Given the description of an element on the screen output the (x, y) to click on. 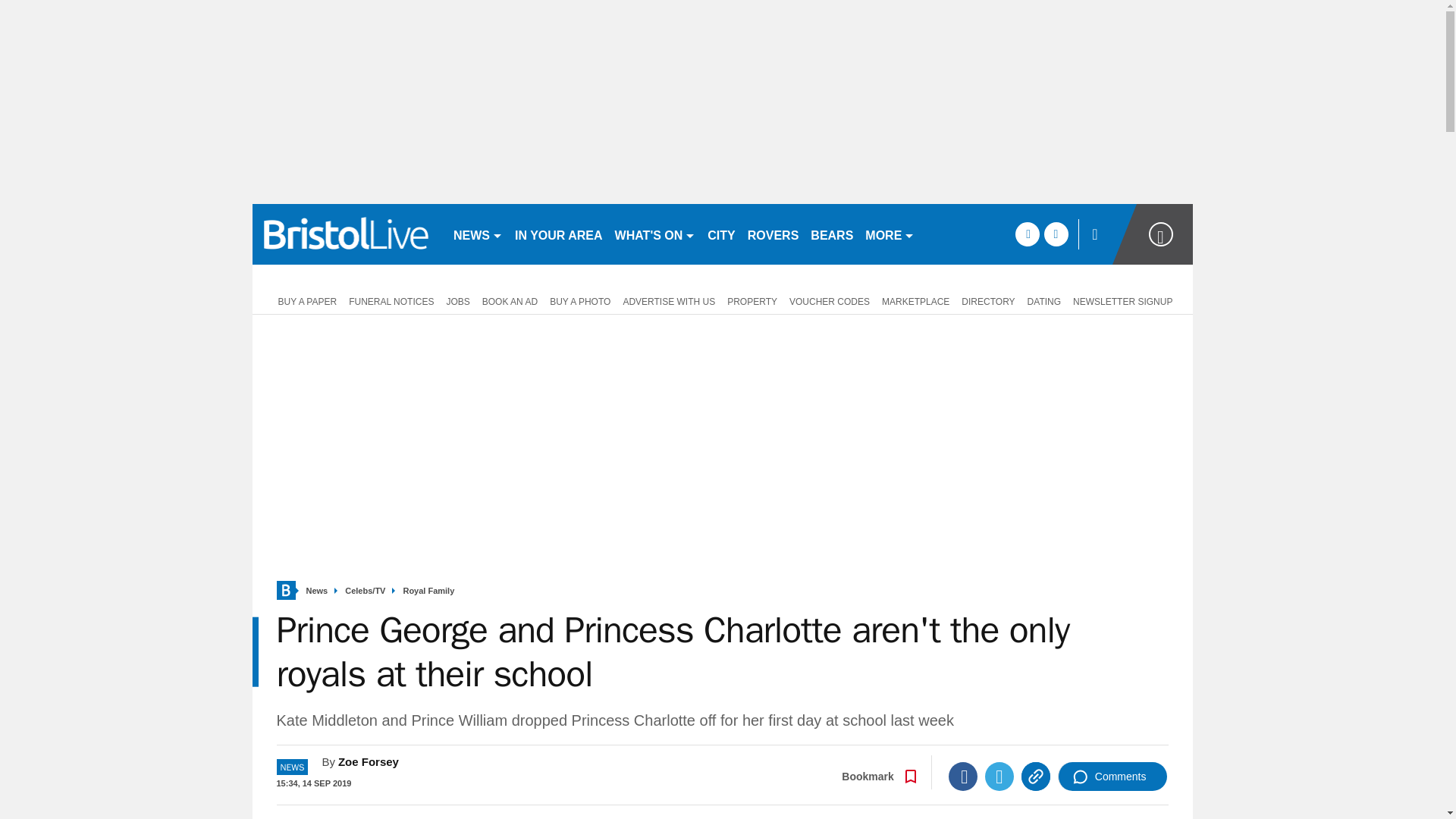
IN YOUR AREA (558, 233)
Facebook (962, 776)
Twitter (999, 776)
MORE (889, 233)
Comments (1112, 776)
ROVERS (773, 233)
facebook (1026, 233)
BEARS (832, 233)
WHAT'S ON (654, 233)
NEWS (477, 233)
